Given the description of an element on the screen output the (x, y) to click on. 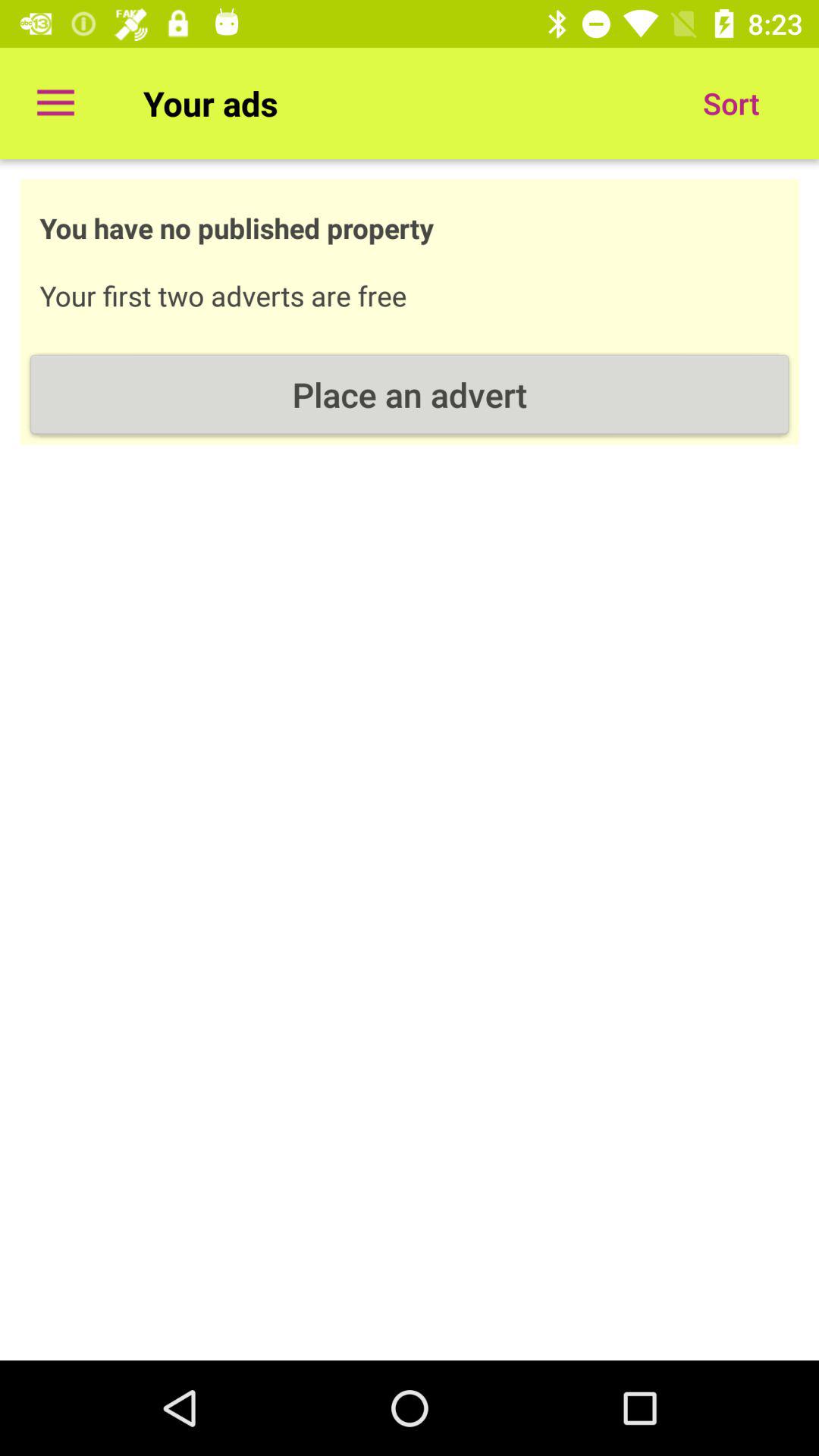
scroll until the sort icon (731, 103)
